Given the description of an element on the screen output the (x, y) to click on. 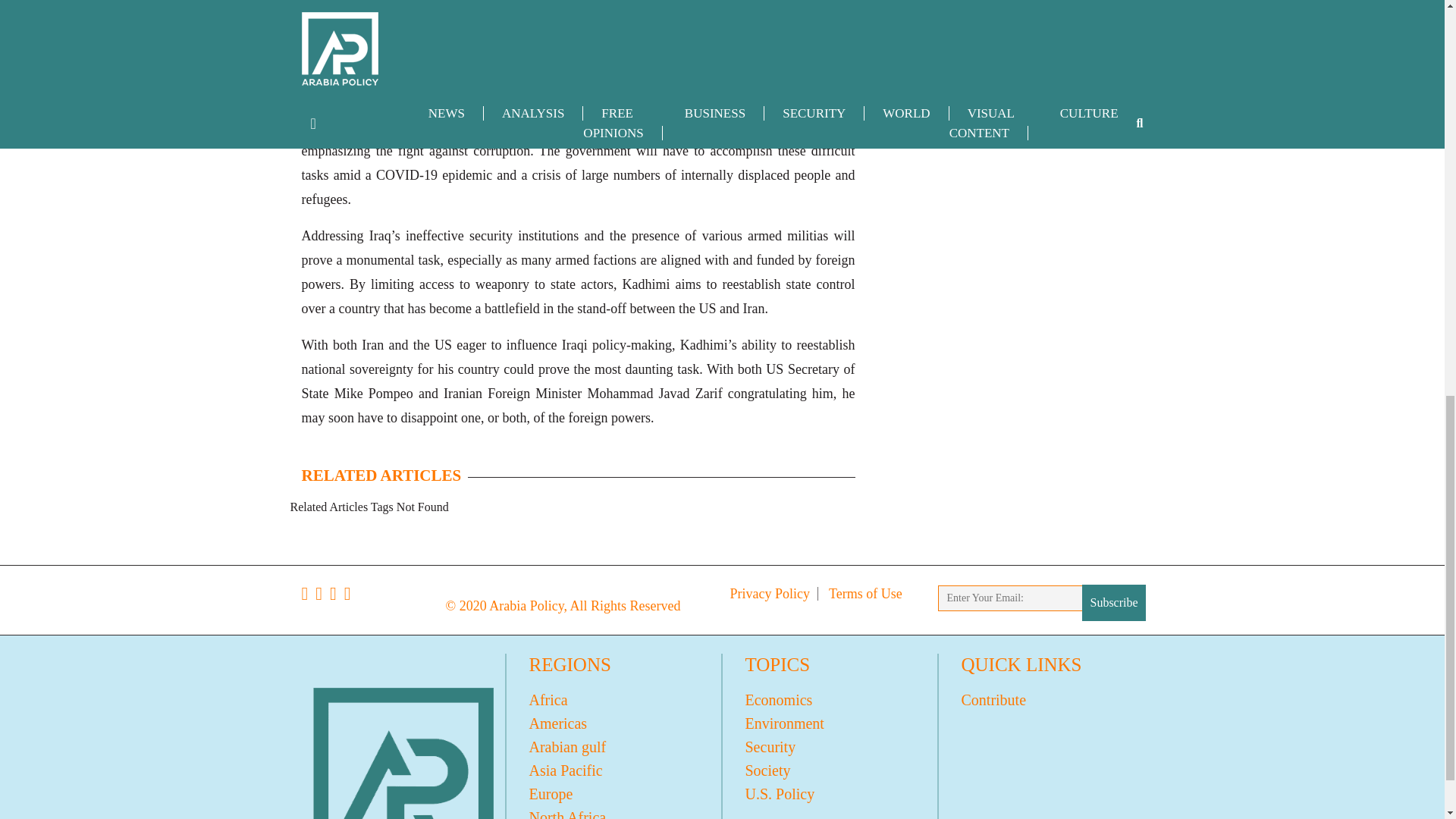
Economics (829, 699)
Subscribe (1112, 602)
North Africa (612, 812)
Privacy Policy (770, 593)
Security (829, 747)
Society (829, 770)
Africa (612, 699)
Arabian gulf (612, 747)
Terms of Use (865, 593)
U.S. Policy (829, 793)
